Given the description of an element on the screen output the (x, y) to click on. 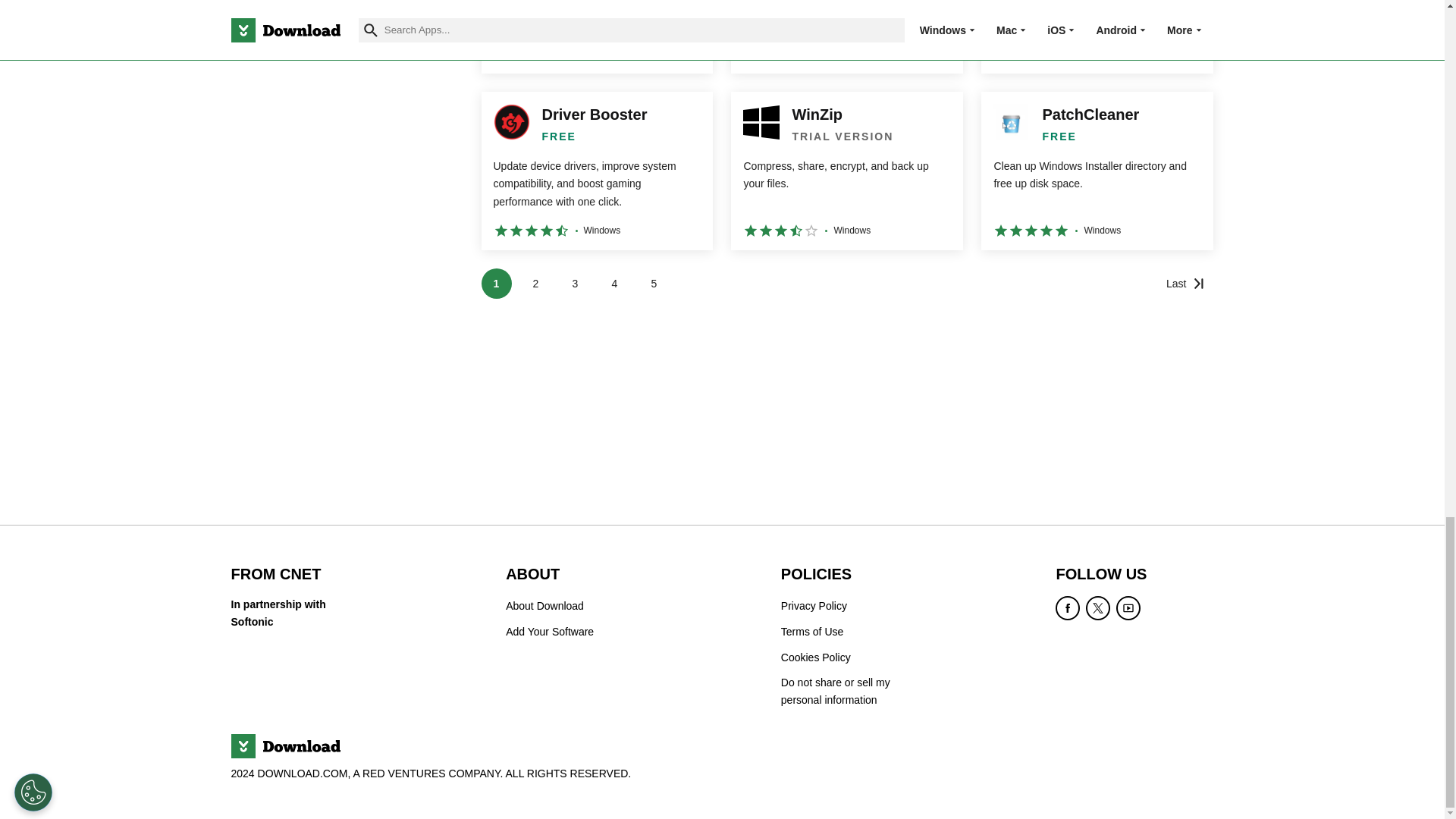
SoftEther VPN Client (596, 36)
Hard Disk Sentinel (846, 36)
